Given the description of an element on the screen output the (x, y) to click on. 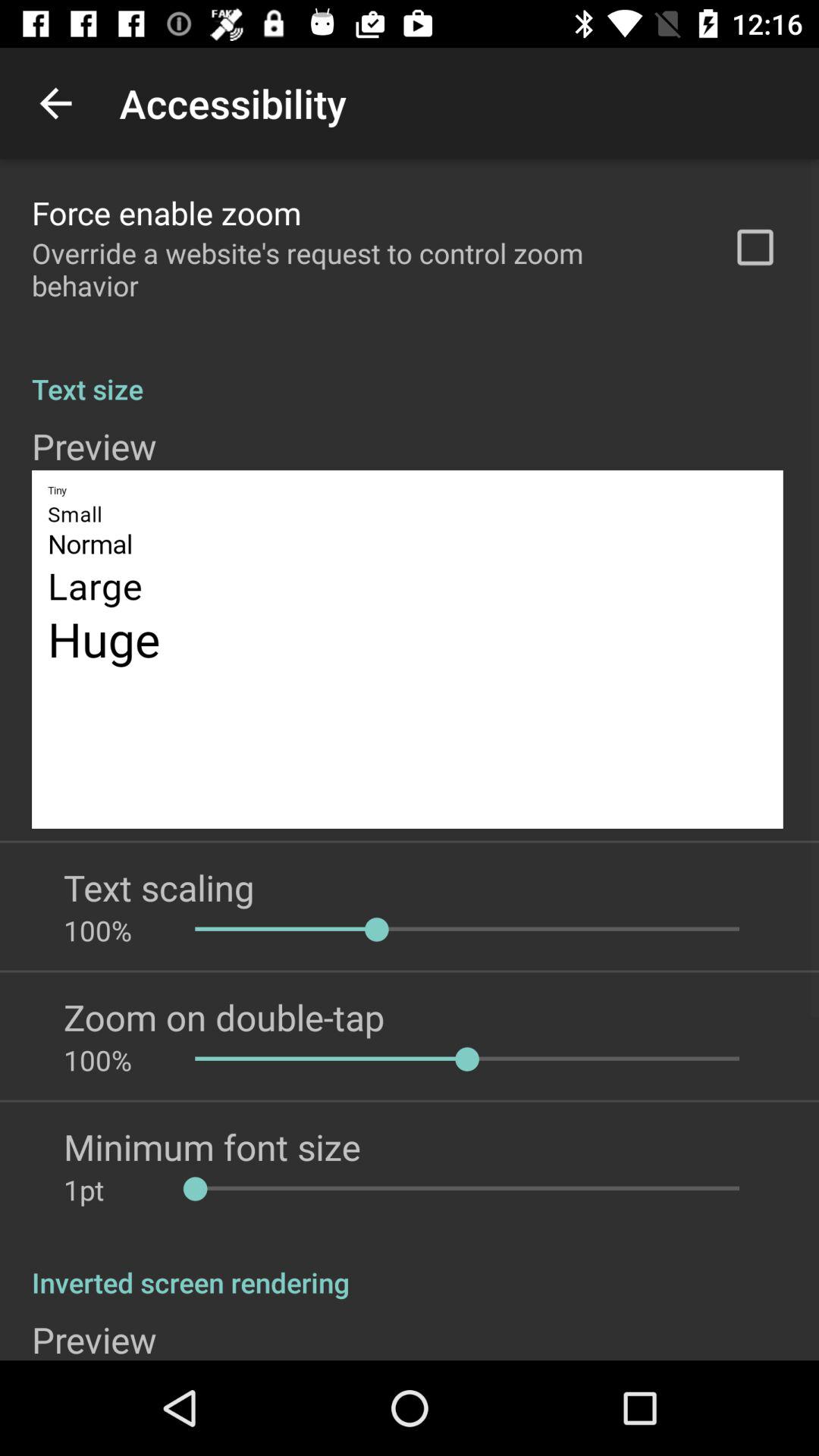
choose the app to the left of accessibility app (55, 103)
